Given the description of an element on the screen output the (x, y) to click on. 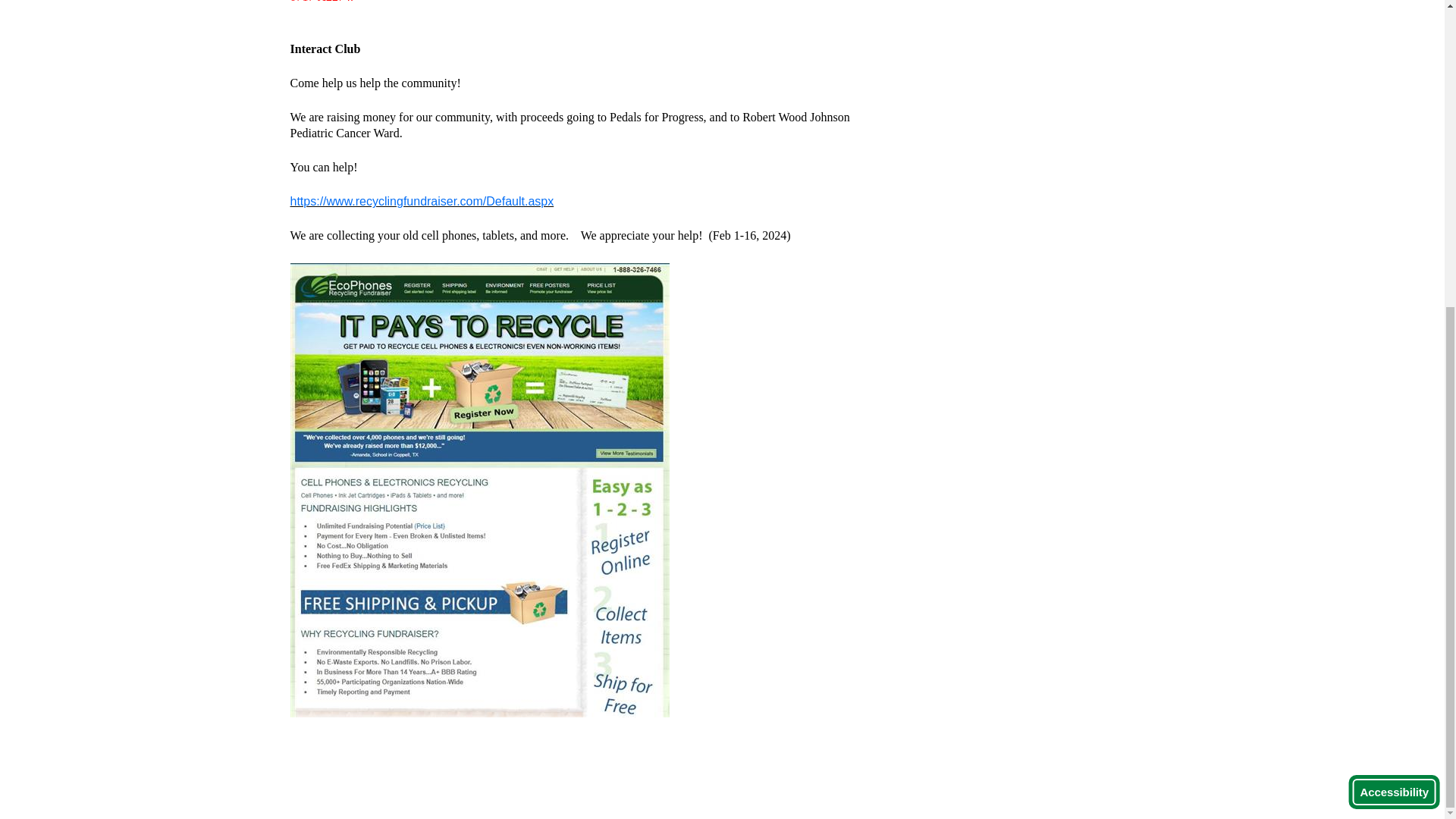
Accessibility Menu (1394, 308)
